Given the description of an element on the screen output the (x, y) to click on. 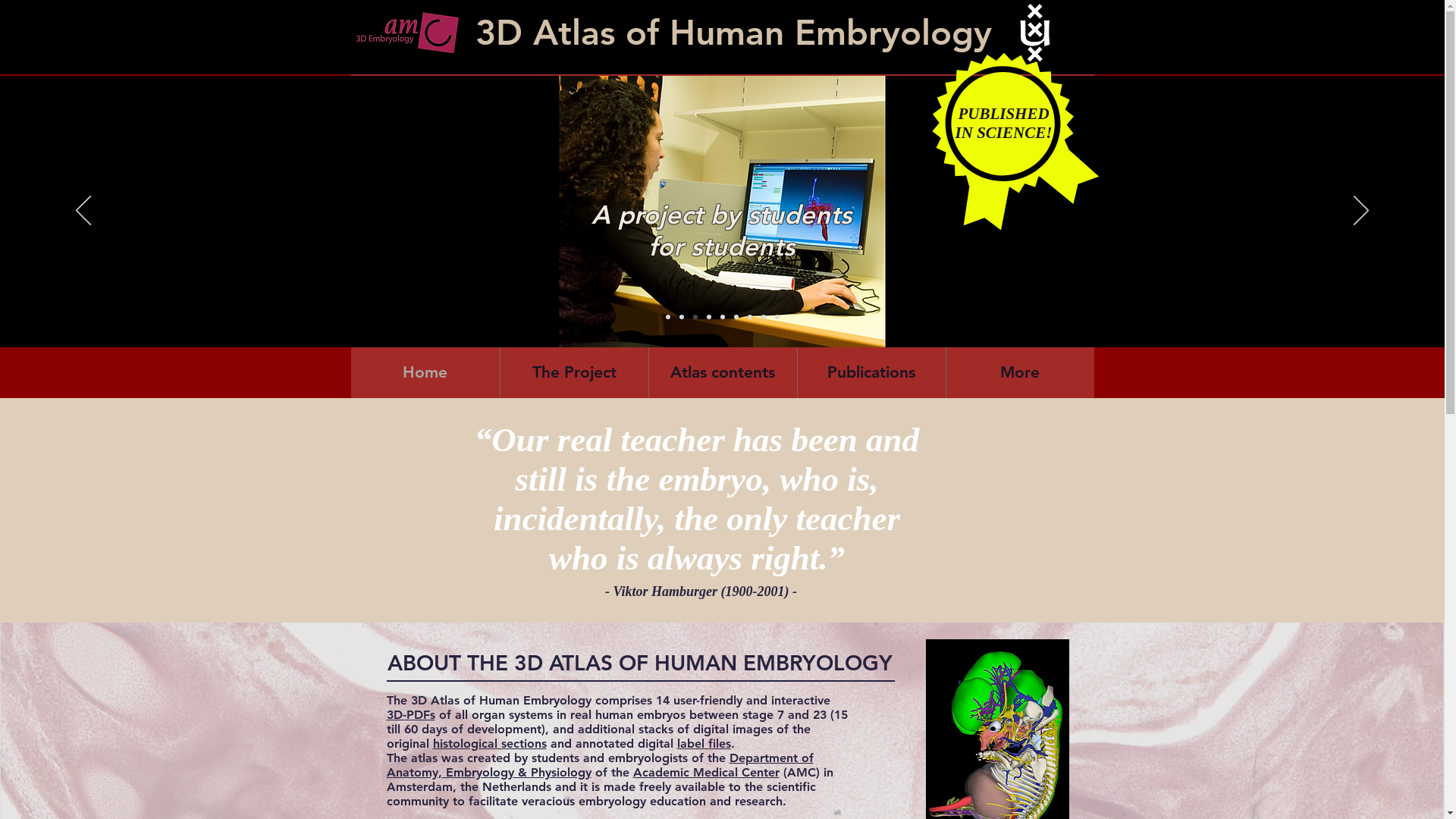
University of Amsterdam.PNG Element type: hover (1035, 33)
Atlas contents Element type: text (723, 372)
histological sections Element type: text (489, 743)
3D-PDFs Element type: text (410, 714)
3D Atlas of Human Embryology Element type: text (733, 32)
Publications Element type: text (871, 372)
The Project Element type: text (574, 372)
Home Element type: text (424, 372)
Academic Medical Center.png Element type: hover (406, 32)
label files Element type: text (703, 743)
Academic Medical Center Element type: text (705, 772)
Department of Anatomy, Embryology & Physiology Element type: text (599, 764)
